Given the description of an element on the screen output the (x, y) to click on. 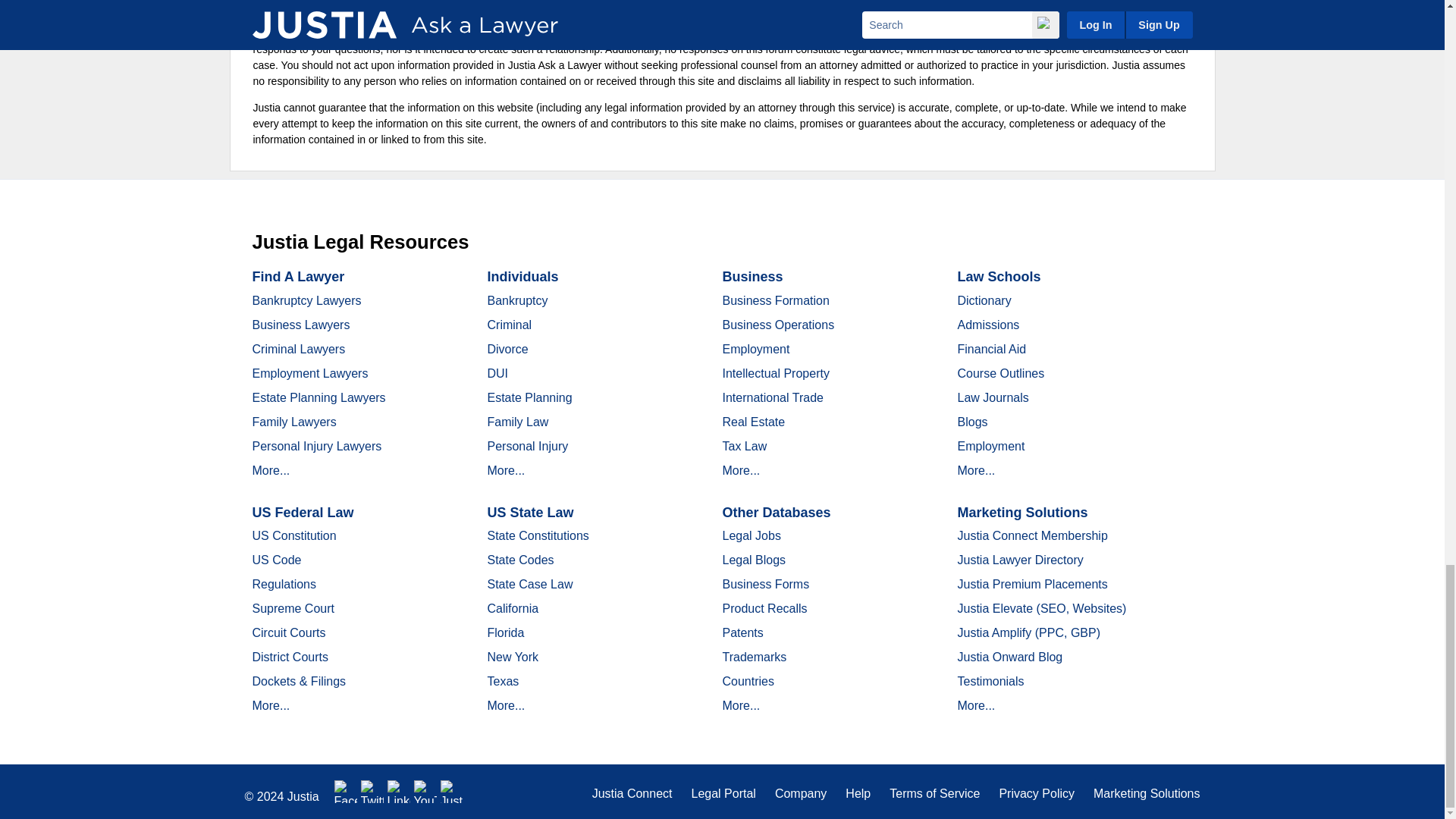
Justia Lawyer Directory (452, 791)
Facebook (345, 791)
Twitter (372, 791)
LinkedIn (398, 791)
YouTube (424, 791)
